Given the description of an element on the screen output the (x, y) to click on. 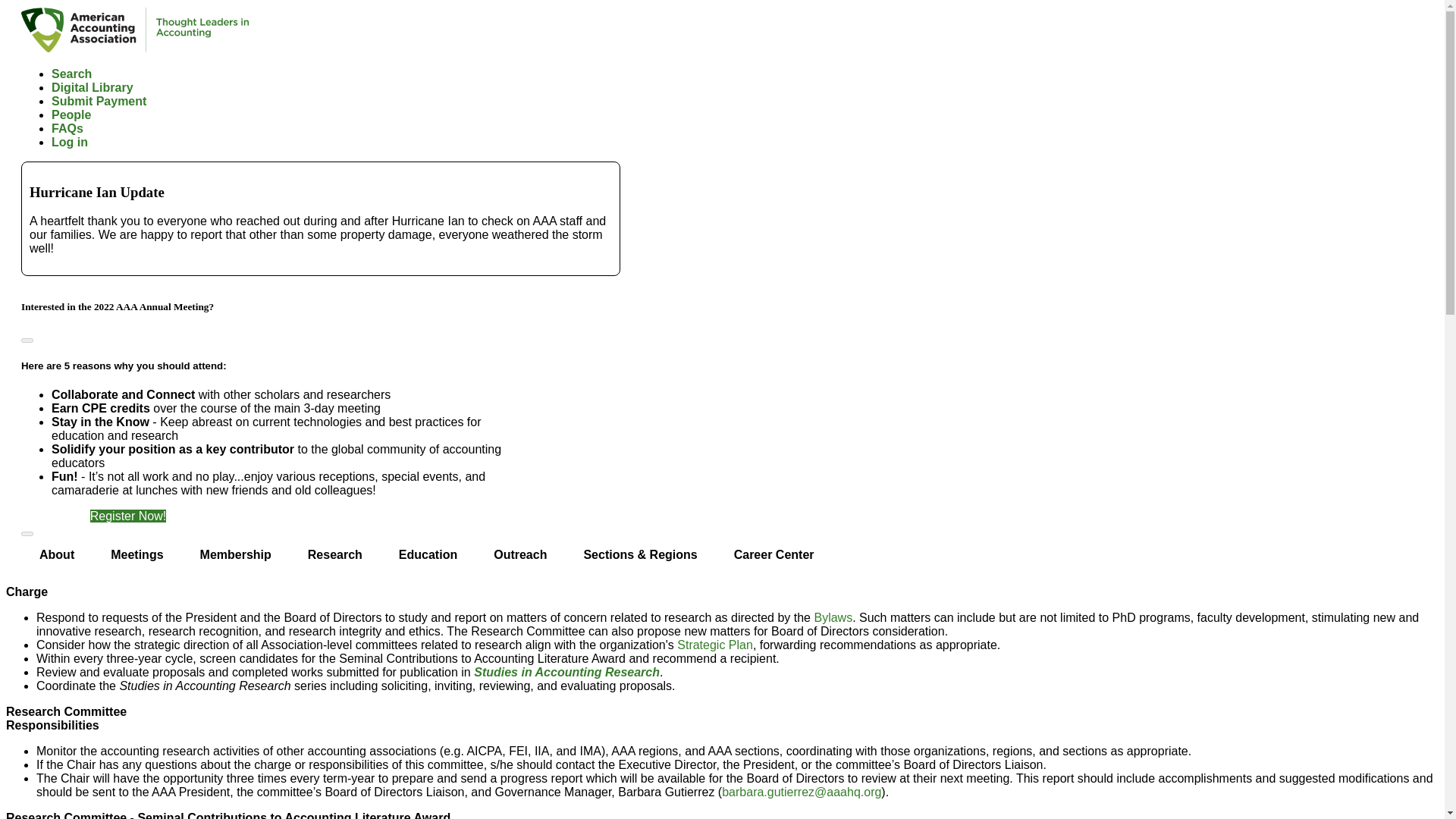
People (70, 114)
Digital Library (91, 87)
Learn More! (53, 515)
Digital Library (91, 87)
Log in (68, 141)
Home (134, 47)
Meetings (136, 555)
Submit Payment (98, 101)
Skip to main content (722, 8)
About (57, 555)
